Given the description of an element on the screen output the (x, y) to click on. 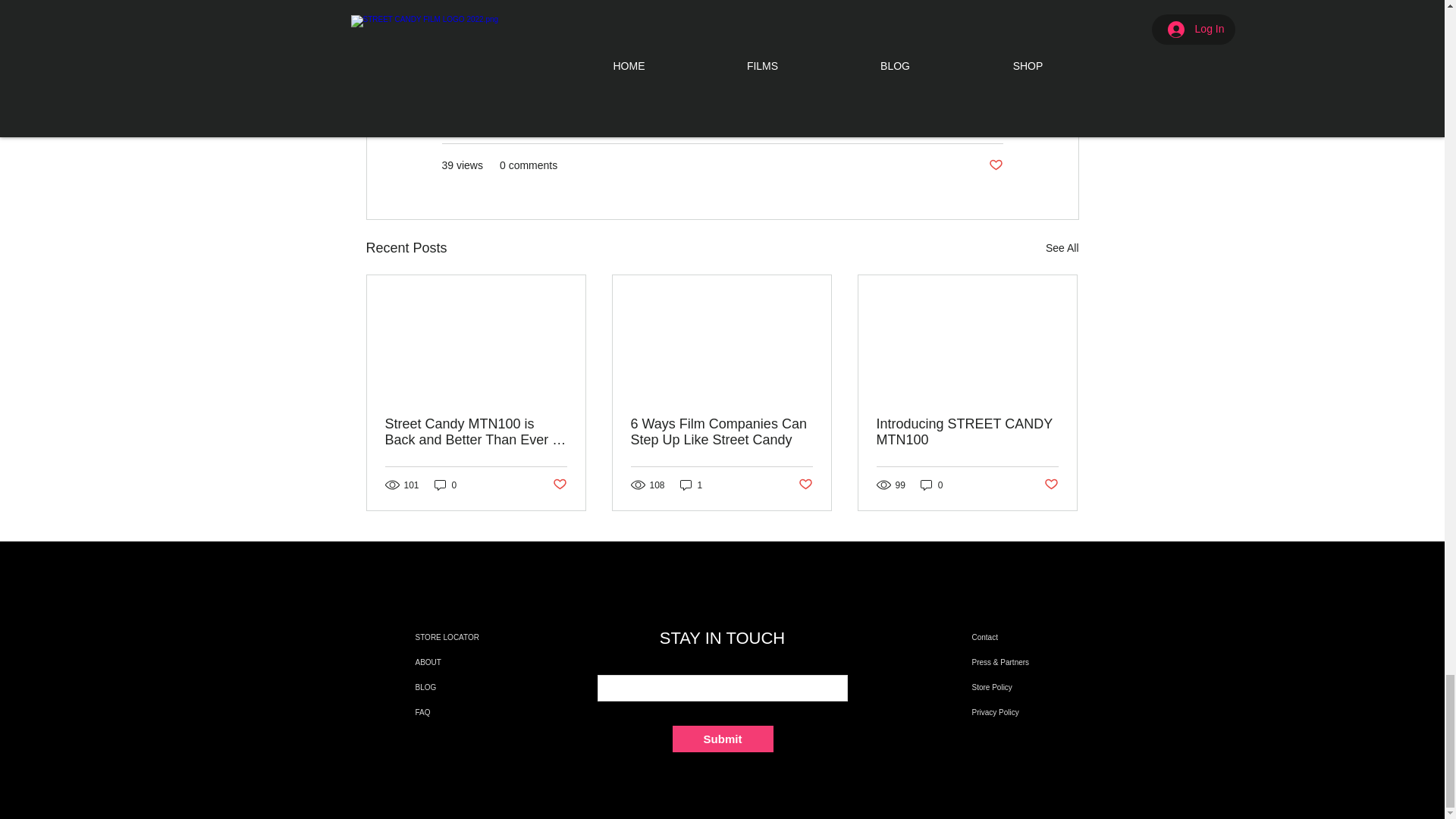
0 (931, 484)
STORE LOCATOR (463, 637)
Post not marked as liked (1050, 484)
join us on Instagram (747, 3)
Post not marked as liked (995, 165)
See All (1061, 248)
Post not marked as liked (804, 484)
1 (691, 484)
Post not marked as liked (558, 484)
Introducing STREET CANDY MTN100 (967, 431)
